Given the description of an element on the screen output the (x, y) to click on. 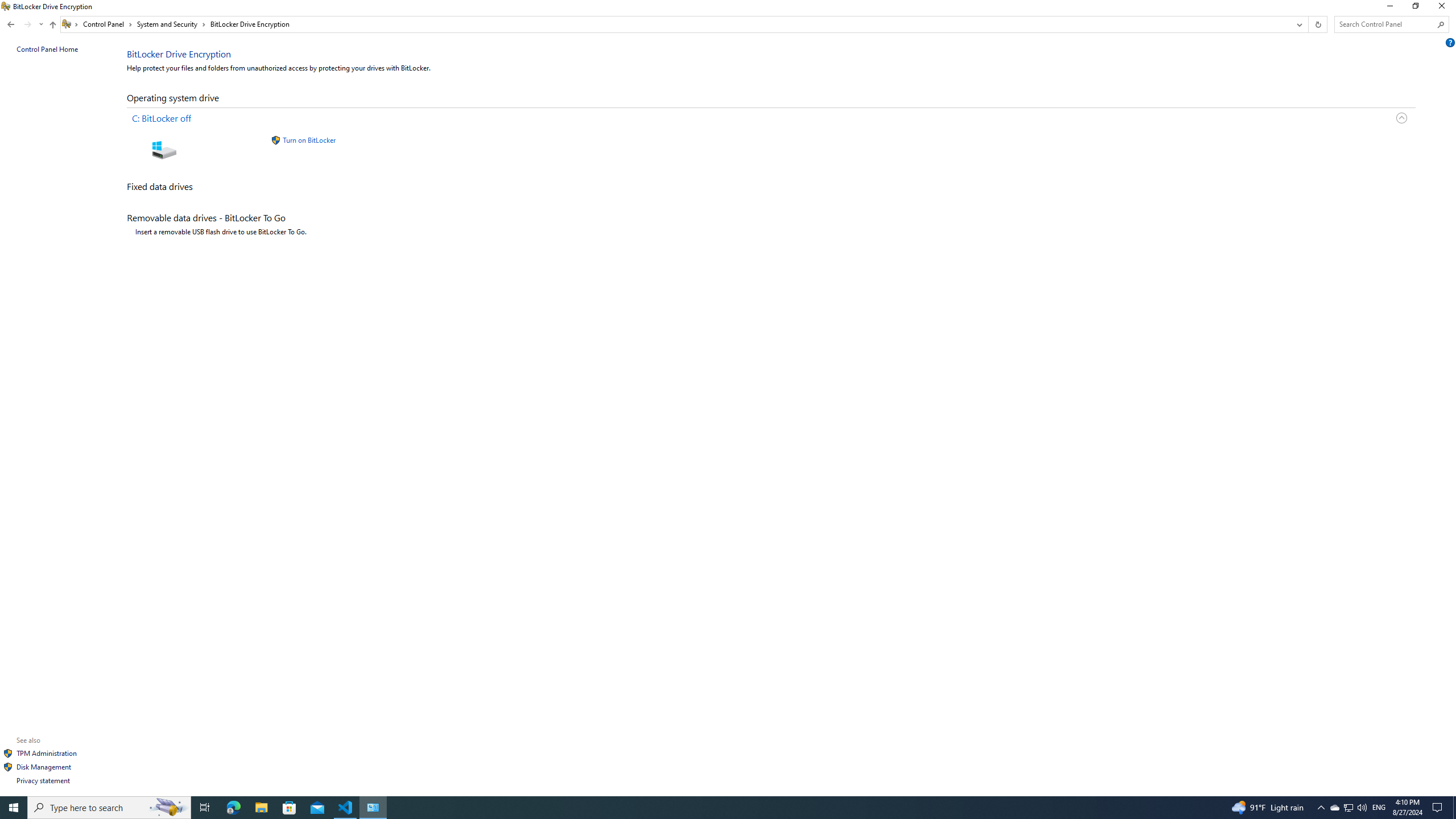
Running applications (706, 807)
Task View (204, 807)
BitLocker Drive Encryption (249, 23)
Q2790: 100% (1361, 807)
Drive (774, 147)
Up to "System and Security" (Alt + Up Arrow) (52, 24)
Forward (Alt + Right Arrow) (27, 23)
User Promoted Notification Area (1347, 807)
Control Panel (107, 23)
Restore (1415, 8)
Back to System and Security (Alt + Left Arrow) (10, 23)
Turn on BitLocker (308, 139)
Notification Chevron (1320, 807)
